Given the description of an element on the screen output the (x, y) to click on. 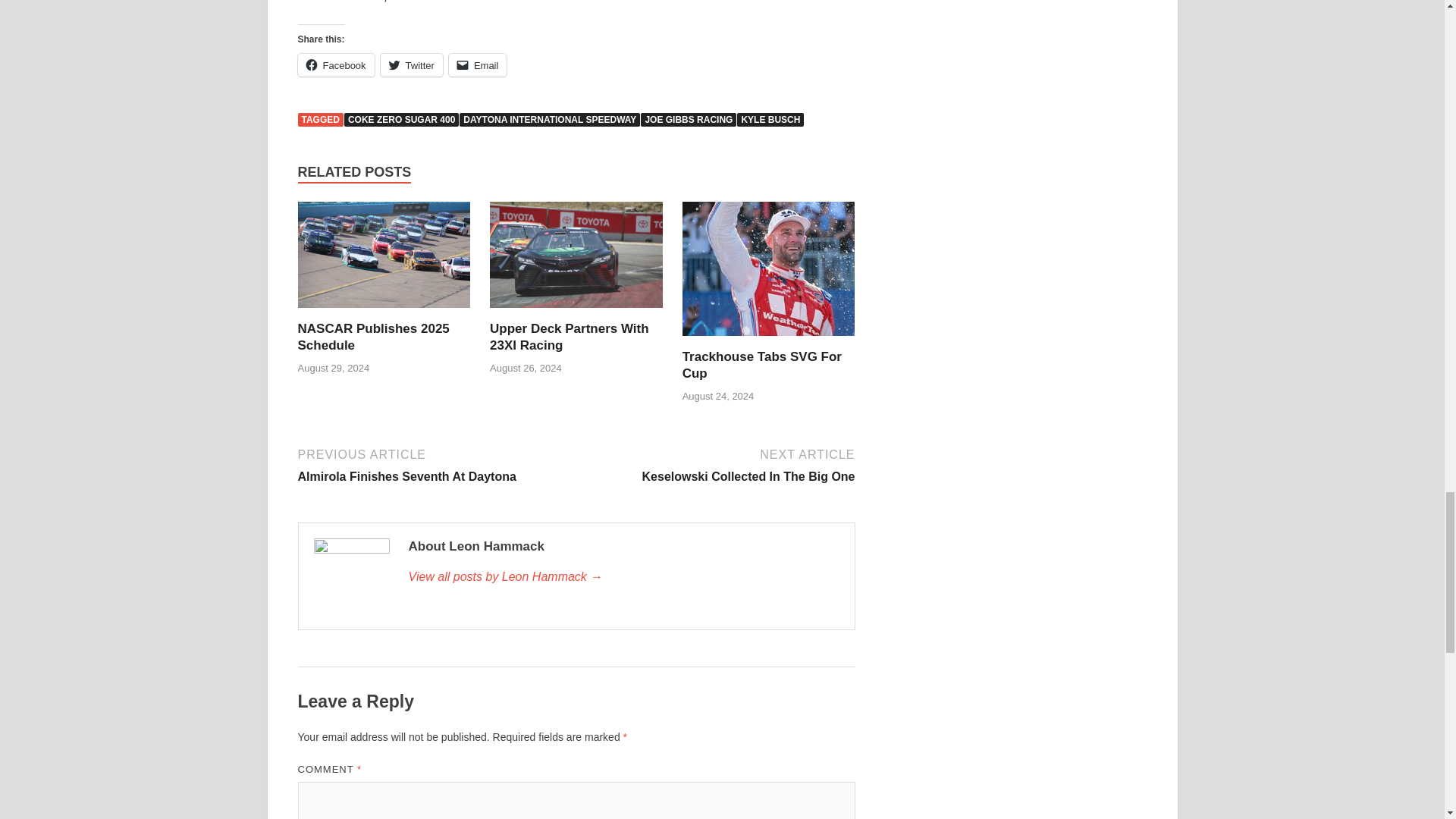
NASCAR Publishes 2025 Schedule (372, 336)
Click to share on Facebook (335, 65)
Twitter (717, 464)
DAYTONA INTERNATIONAL SPEEDWAY (411, 65)
JOE GIBBS RACING (550, 119)
Upper Deck Partners With 23XI Racing (688, 119)
NASCAR  Publishes 2025 Schedule (569, 336)
Facebook (372, 336)
NASCAR  Publishes 2025 Schedule (335, 65)
